Given the description of an element on the screen output the (x, y) to click on. 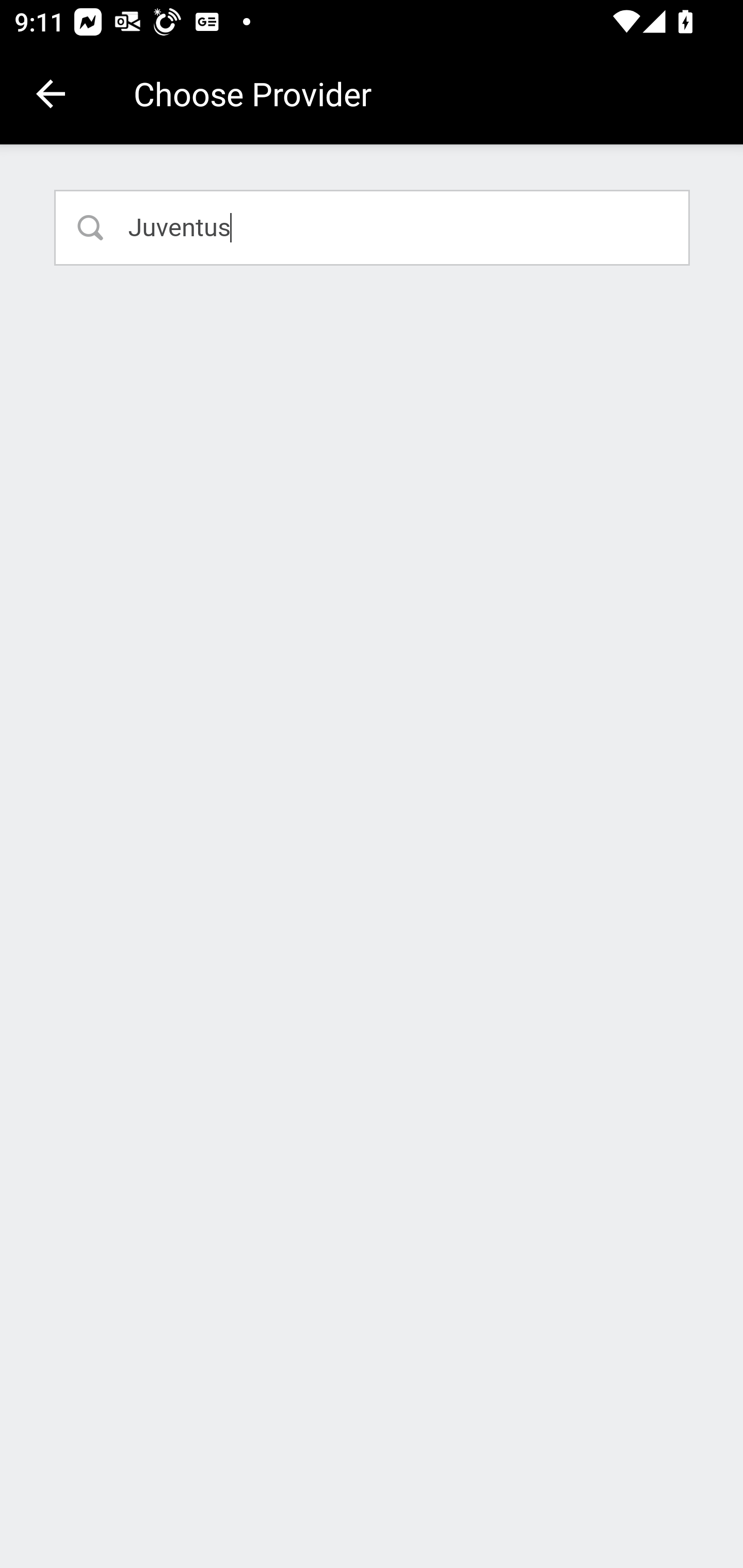
Navigate up (50, 93)
Juventus (372, 227)
